Given the description of an element on the screen output the (x, y) to click on. 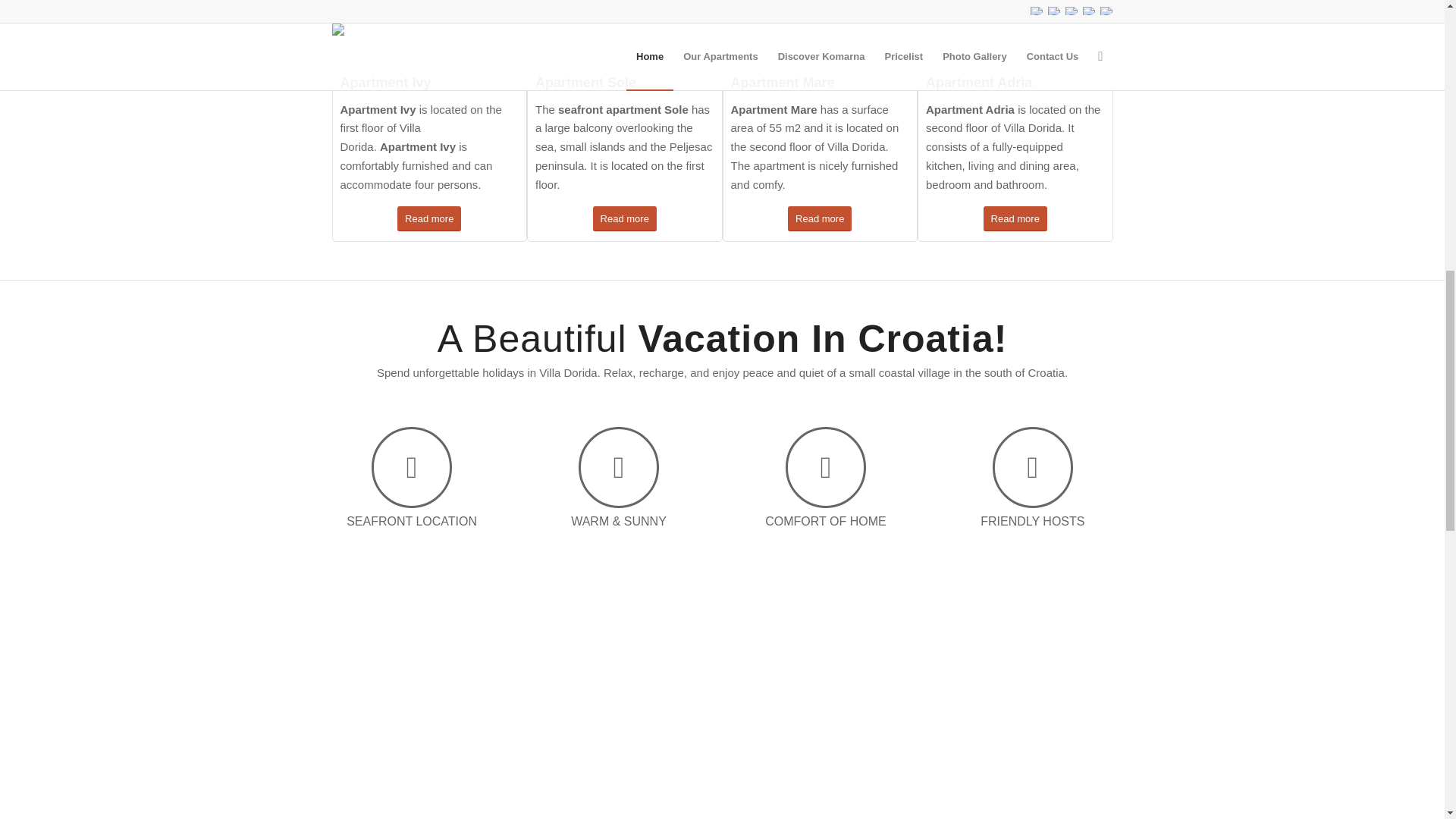
Seafront Apartment Ivvy in Komarna (428, 33)
Read more (624, 218)
Apartment Adria - Balcony (1015, 33)
Read more (819, 218)
Read more (429, 218)
Read more (1015, 218)
